Given the description of an element on the screen output the (x, y) to click on. 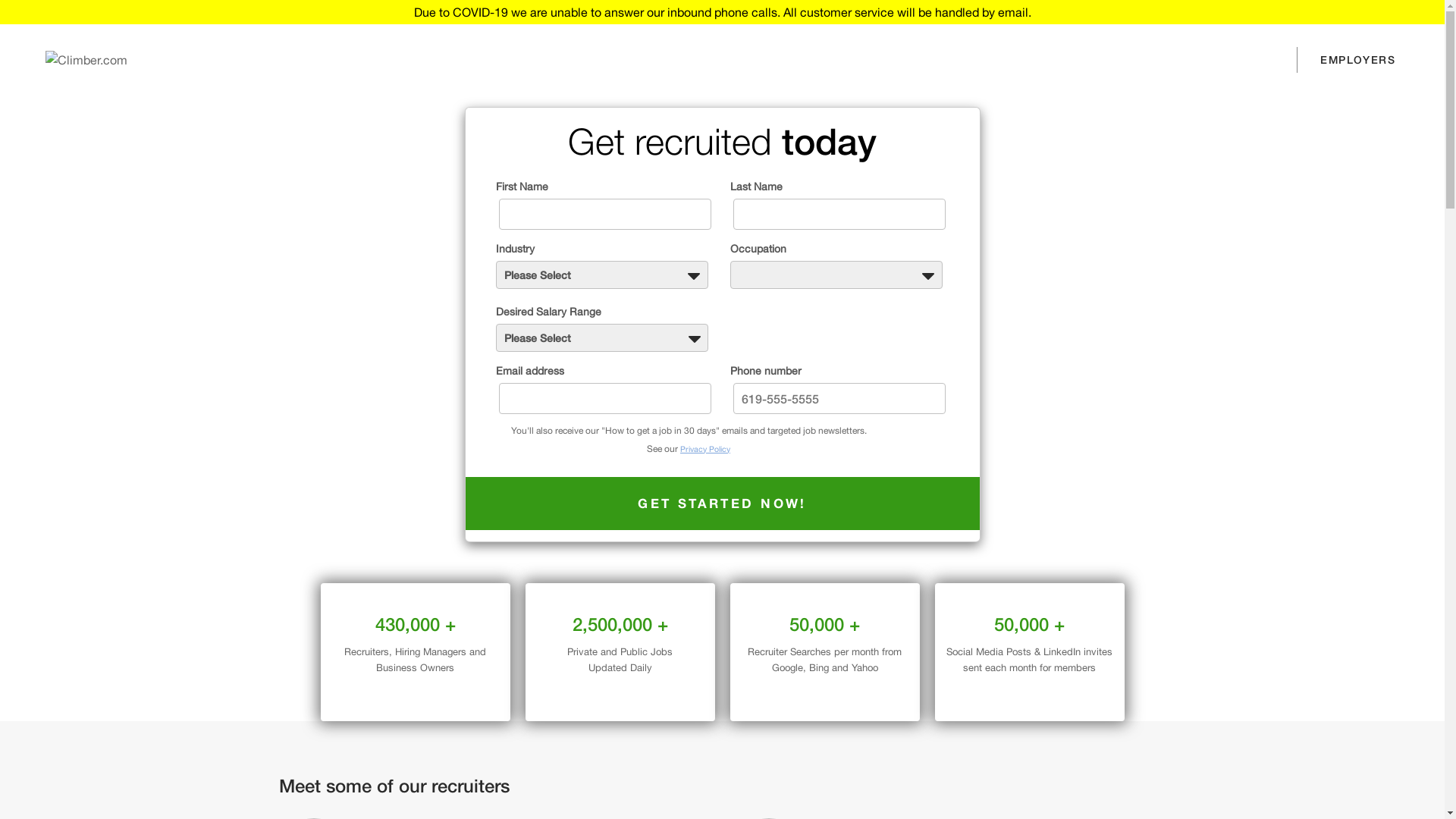
Privacy Policy Element type: text (705, 449)
GET STARTED NOW! Element type: text (722, 503)
EMPLOYERS Element type: text (1357, 59)
LOGIN Element type: text (1253, 59)
